Given the description of an element on the screen output the (x, y) to click on. 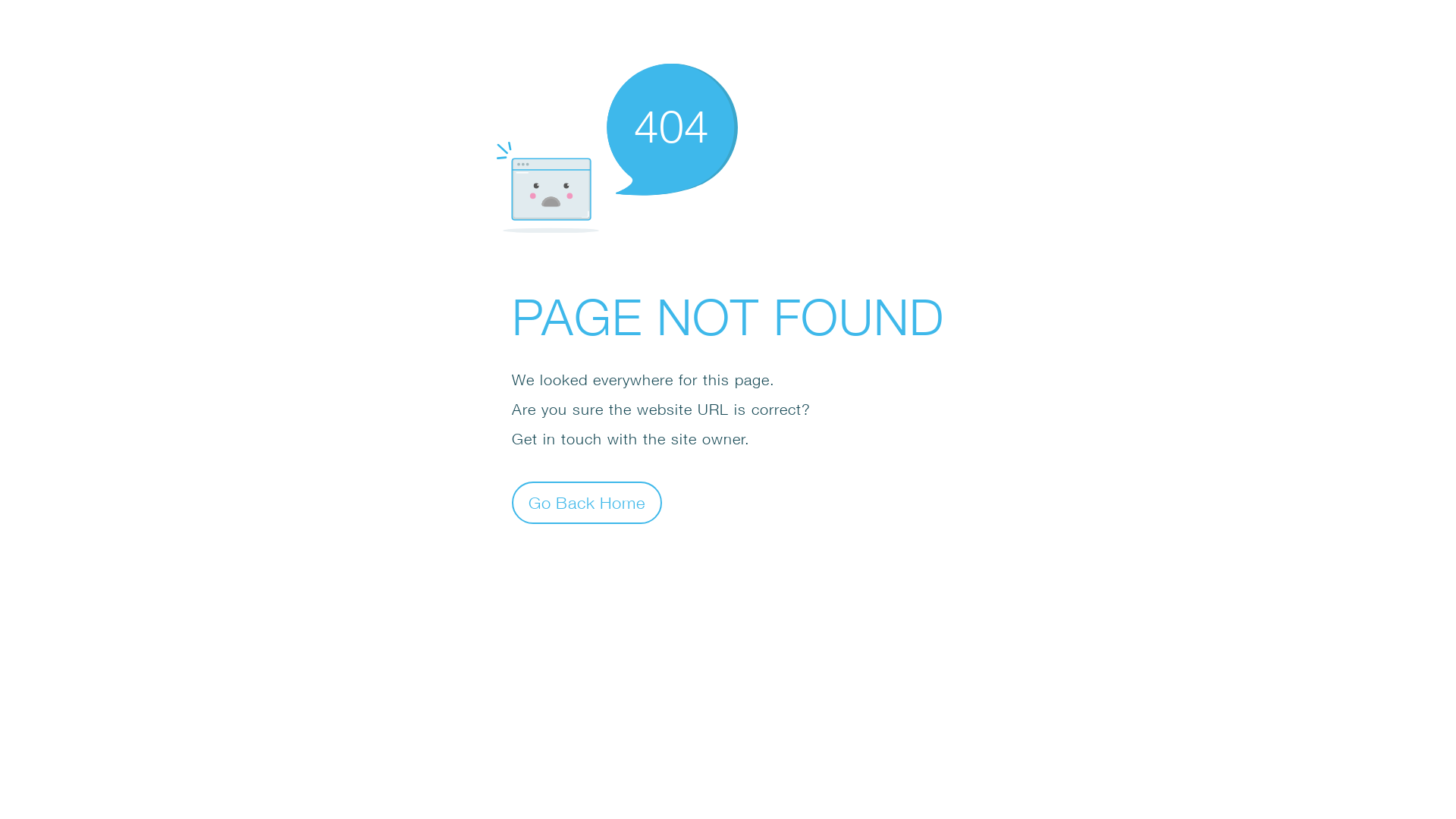
Go Back Home Element type: text (586, 502)
